Given the description of an element on the screen output the (x, y) to click on. 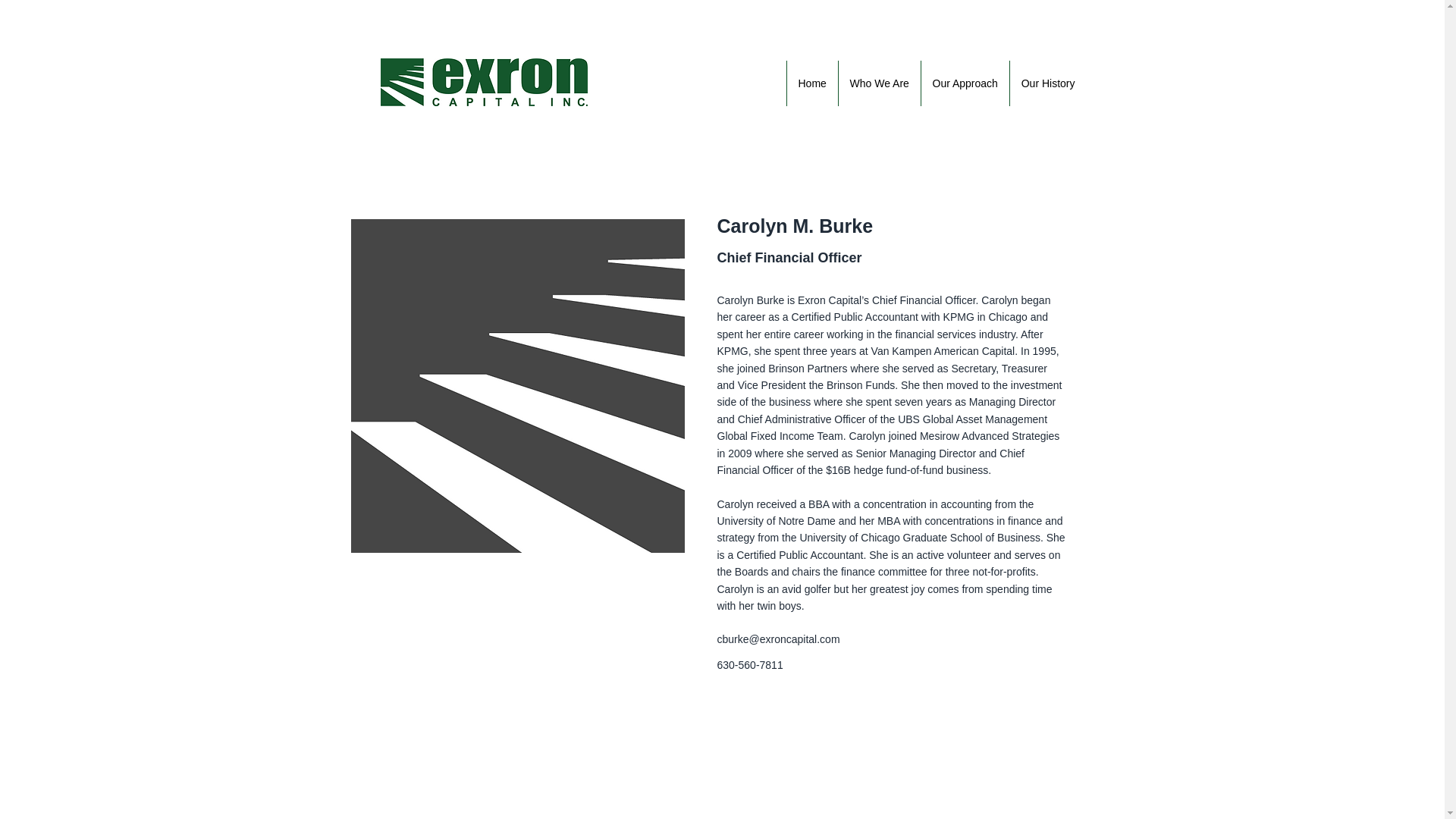
Home (811, 83)
Our Approach (964, 83)
Who We Are (878, 83)
Our History (1047, 83)
